Given the description of an element on the screen output the (x, y) to click on. 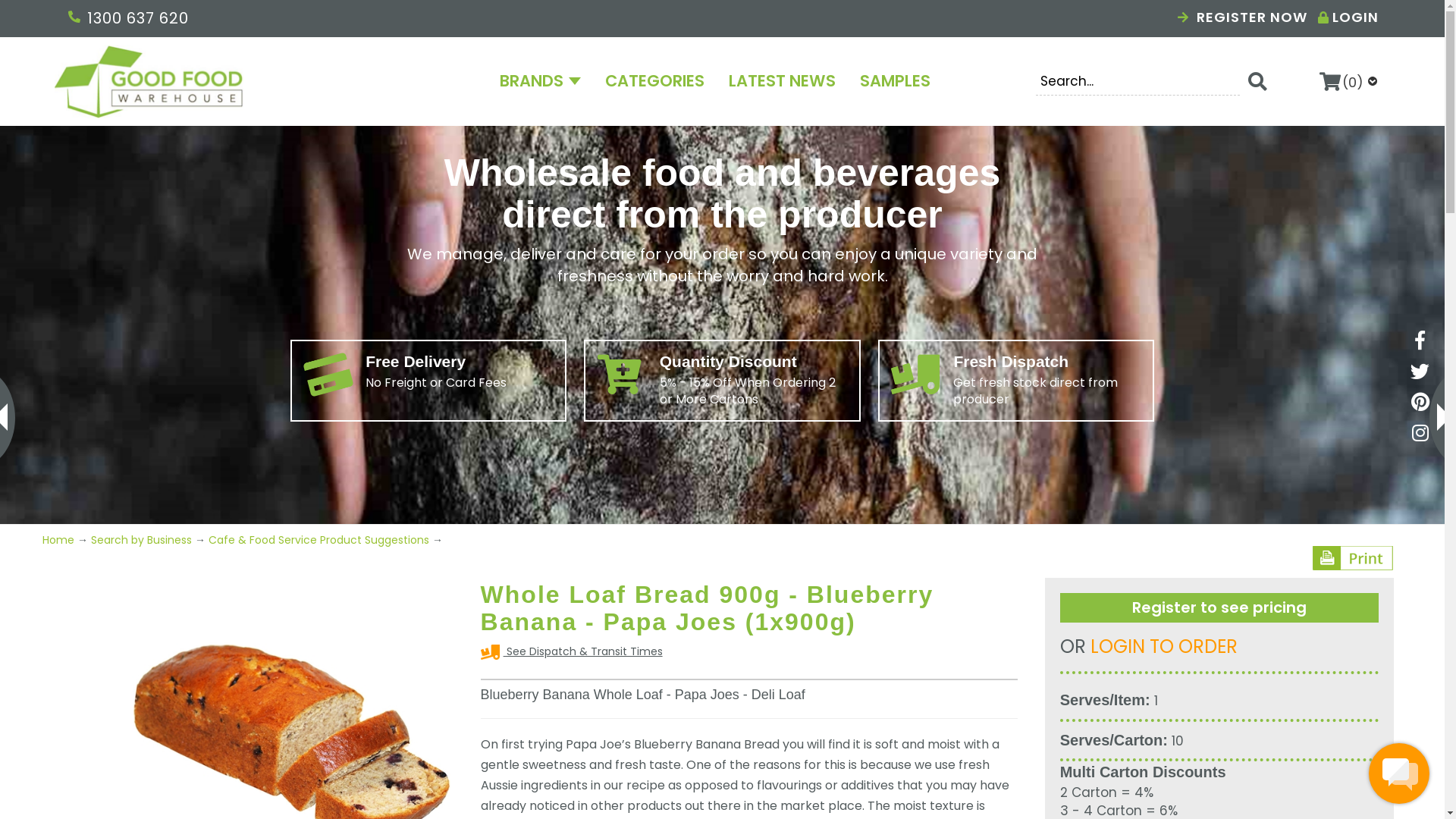
See Dispatch & Transit Times Element type: text (582, 650)
Live Chat Button Element type: hover (1398, 773)
SAMPLES Element type: text (895, 77)
Register to see pricing Element type: text (1219, 607)
REGISTER NOW Element type: text (1242, 16)
Home Element type: text (59, 539)
Register to see pricing Element type: text (1219, 607)
LATEST NEWS Element type: text (782, 77)
Cafe & Food Service Product Suggestions Element type: text (318, 539)
Search by Business Element type: text (141, 539)
CATEGORIES Element type: text (654, 77)
1300 637 620 Element type: text (126, 17)
BRANDS Element type: text (540, 77)
LOGIN TO ORDER Element type: text (1163, 645)
LOGIN Element type: text (1355, 16)
(0) Element type: text (1352, 82)
